Given the description of an element on the screen output the (x, y) to click on. 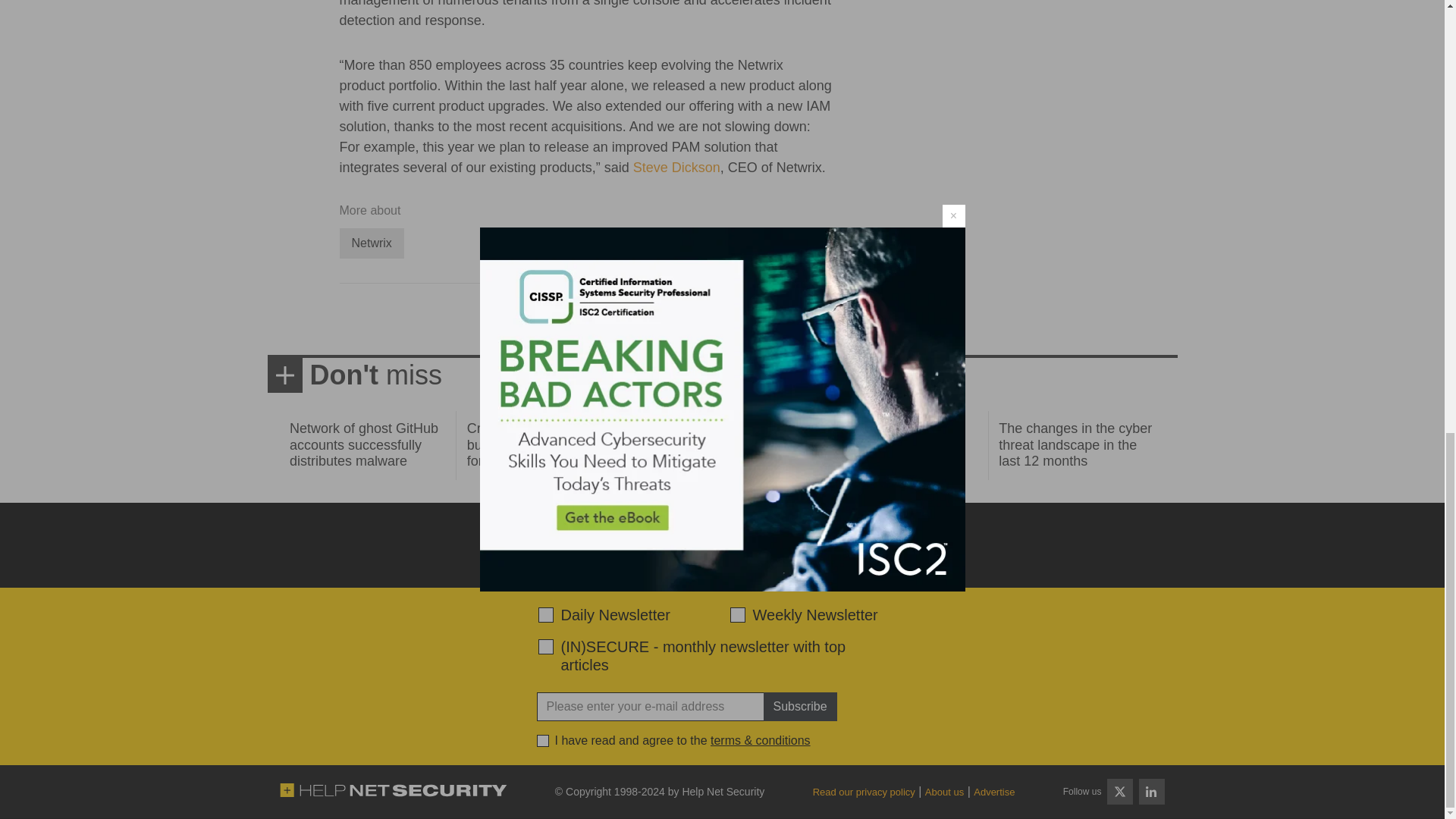
1 (542, 740)
d2d471aafa (736, 614)
Netwrix (371, 242)
Steve Dickson (676, 167)
Netwrix (371, 242)
28abe5d9ef (545, 646)
Infisical: Open-source secret management platform (887, 444)
520ac2f639 (545, 614)
Cybersecurity ROI: Top metrics and KPIs (715, 436)
